Given the description of an element on the screen output the (x, y) to click on. 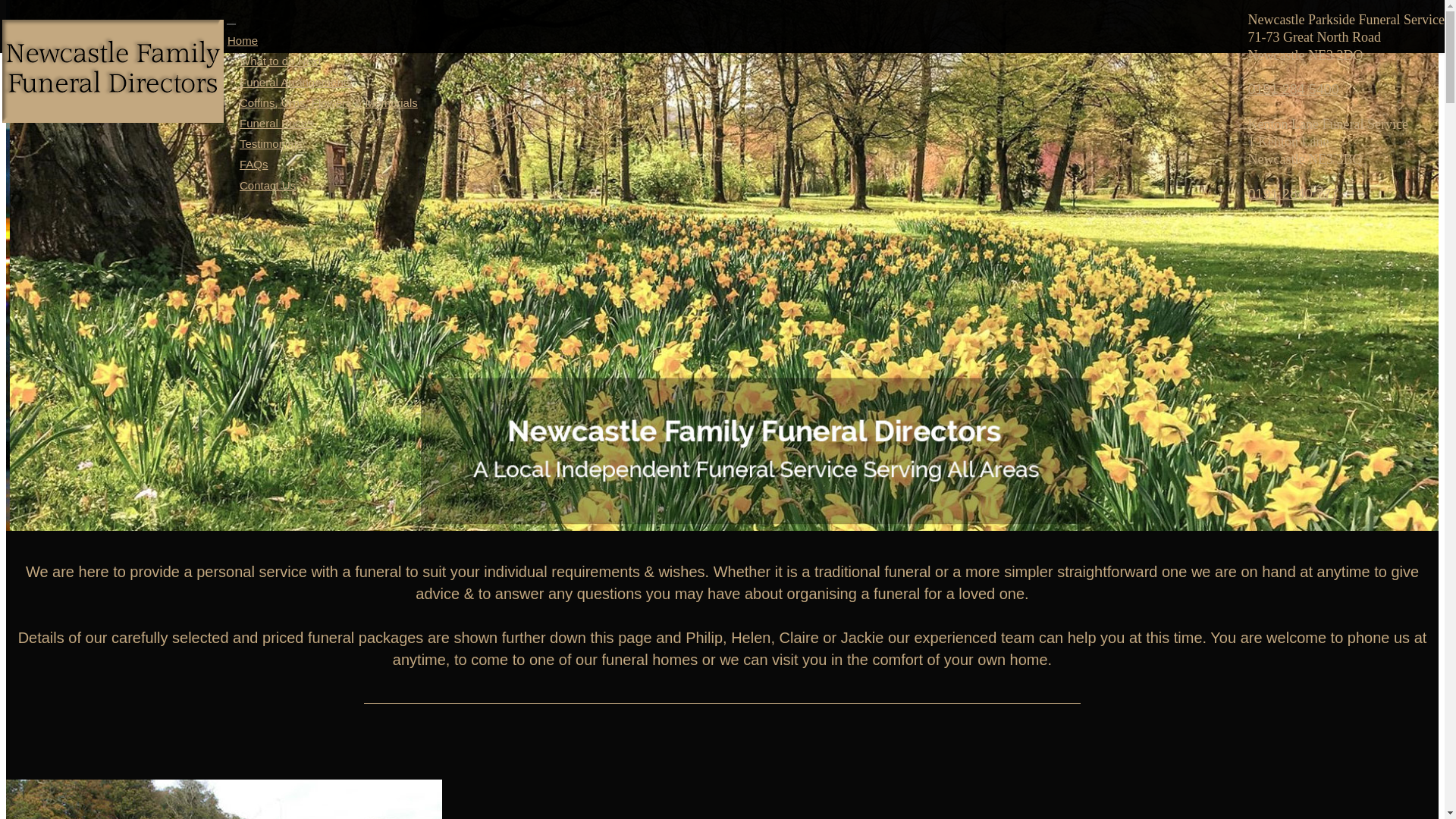
Funeral Prices (276, 122)
0191 2840 777 (1293, 193)
Funeral Arrangements (296, 81)
Contact Us (267, 185)
What to do Next (280, 60)
0191 284 5400 (1293, 89)
FAQs (254, 163)
Home (248, 40)
Testimonials (271, 143)
